Given the description of an element on the screen output the (x, y) to click on. 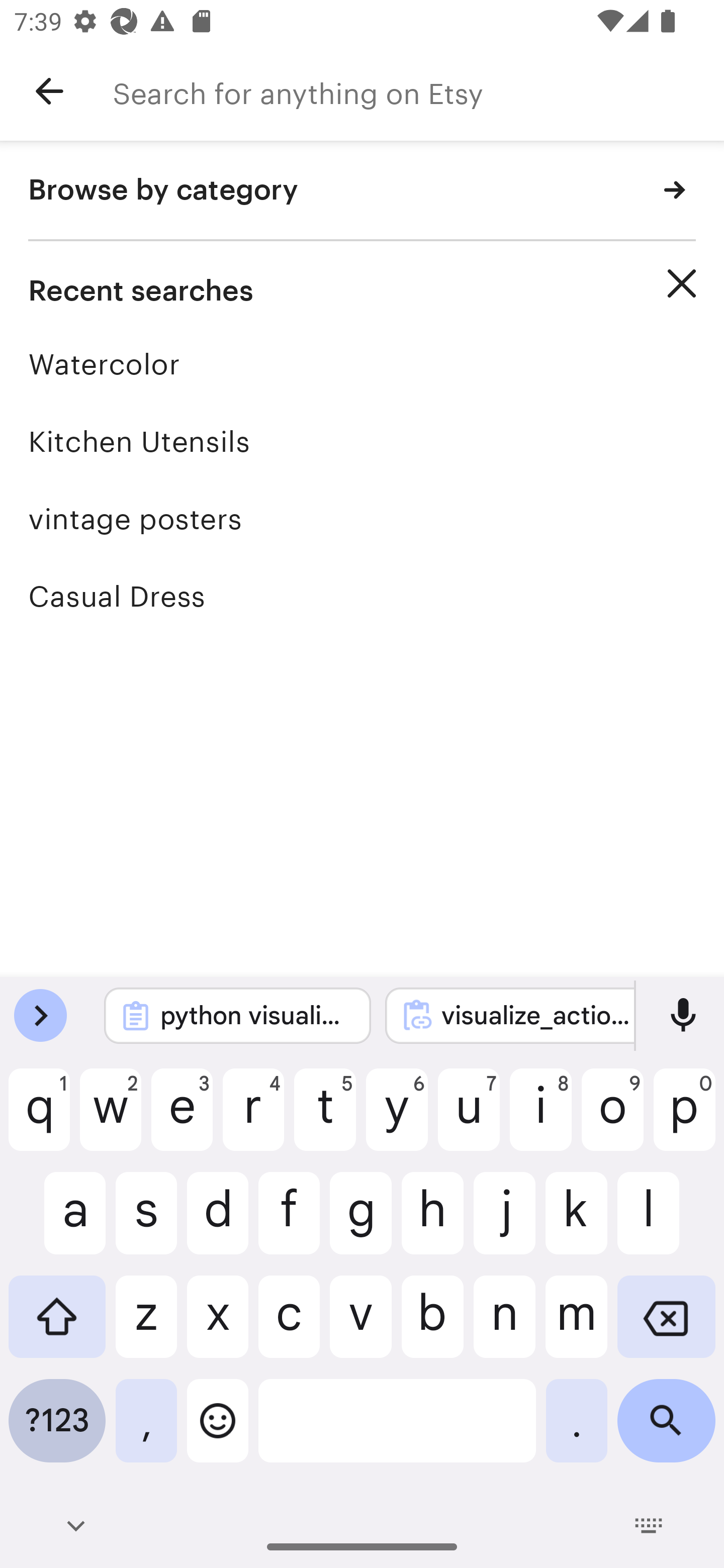
Navigate up (49, 91)
Search for anything on Etsy (418, 91)
Browse by category (362, 191)
Clear (681, 283)
Watercolor (362, 364)
Kitchen Utensils (362, 440)
vintage posters (362, 518)
Casual Dress (362, 596)
